Given the description of an element on the screen output the (x, y) to click on. 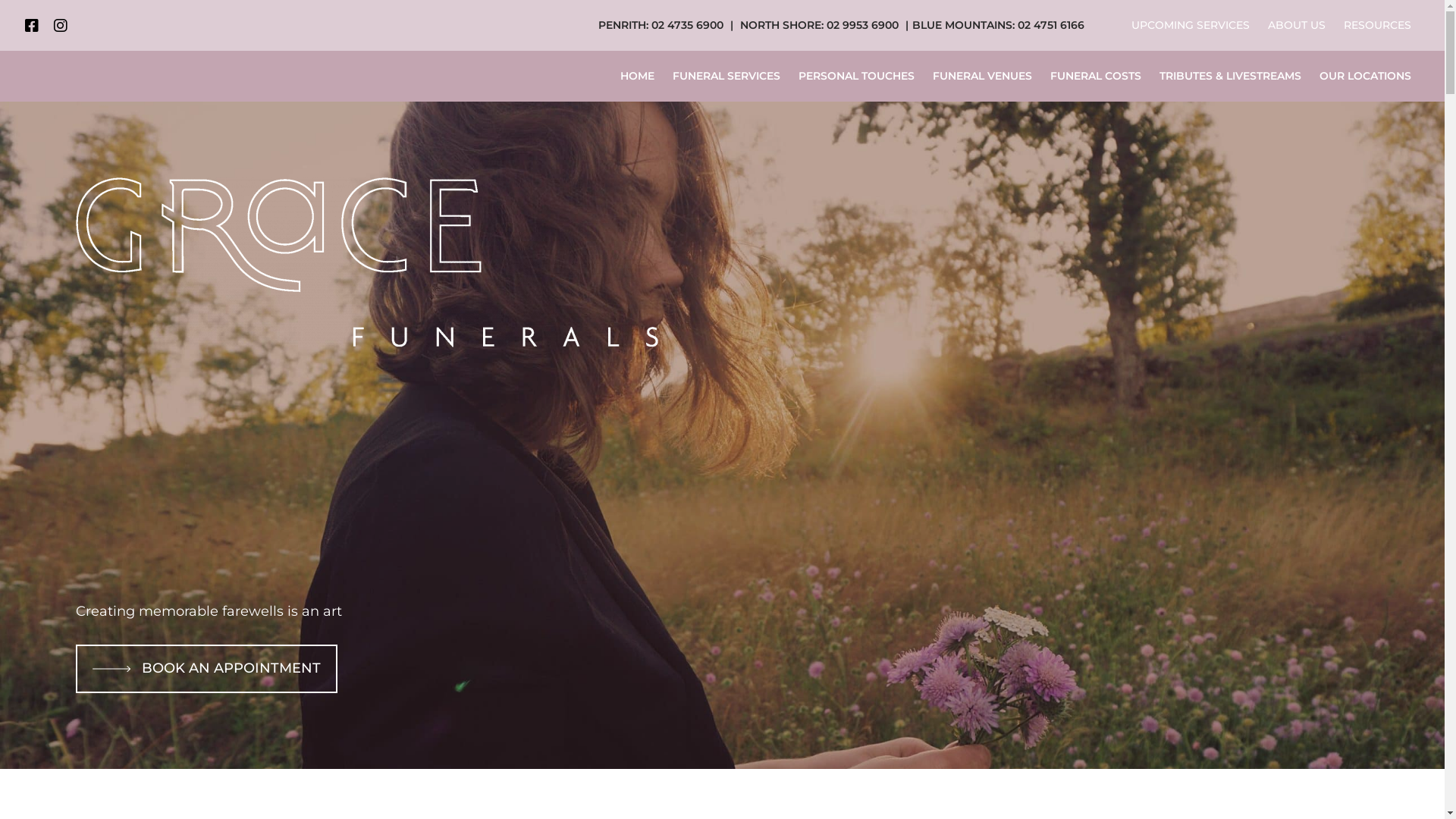
ABOUT US Element type: text (1296, 25)
FUNERAL VENUES Element type: text (982, 76)
02 4735 6900 Element type: text (686, 24)
OUR LOCATIONS Element type: text (1365, 76)
UPCOMING SERVICES Element type: text (1190, 25)
BOOK AN APPOINTMENT Element type: text (206, 668)
HOME Element type: text (641, 76)
02 4751 6166 Element type: text (1050, 24)
02 9953 6900 Element type: text (862, 24)
PENRITH Element type: text (621, 24)
FUNERAL COSTS Element type: text (1094, 76)
RESOURCES Element type: text (1377, 25)
PERSONAL TOUCHES Element type: text (855, 76)
TRIBUTES & LIVESTREAMS Element type: text (1229, 76)
FUNERAL SERVICES Element type: text (725, 76)
